Given the description of an element on the screen output the (x, y) to click on. 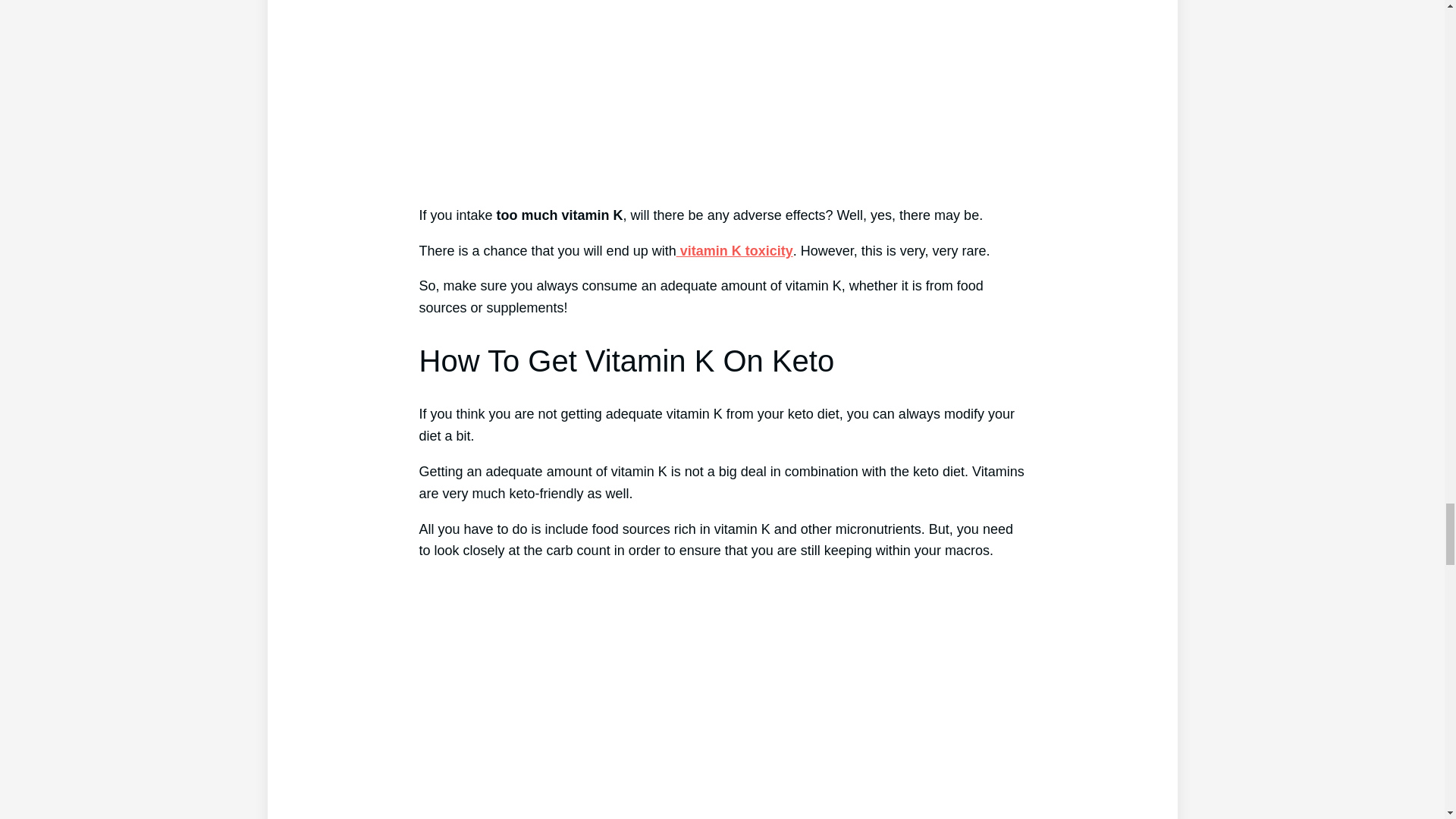
vitamin K toxicity (735, 250)
